Given the description of an element on the screen output the (x, y) to click on. 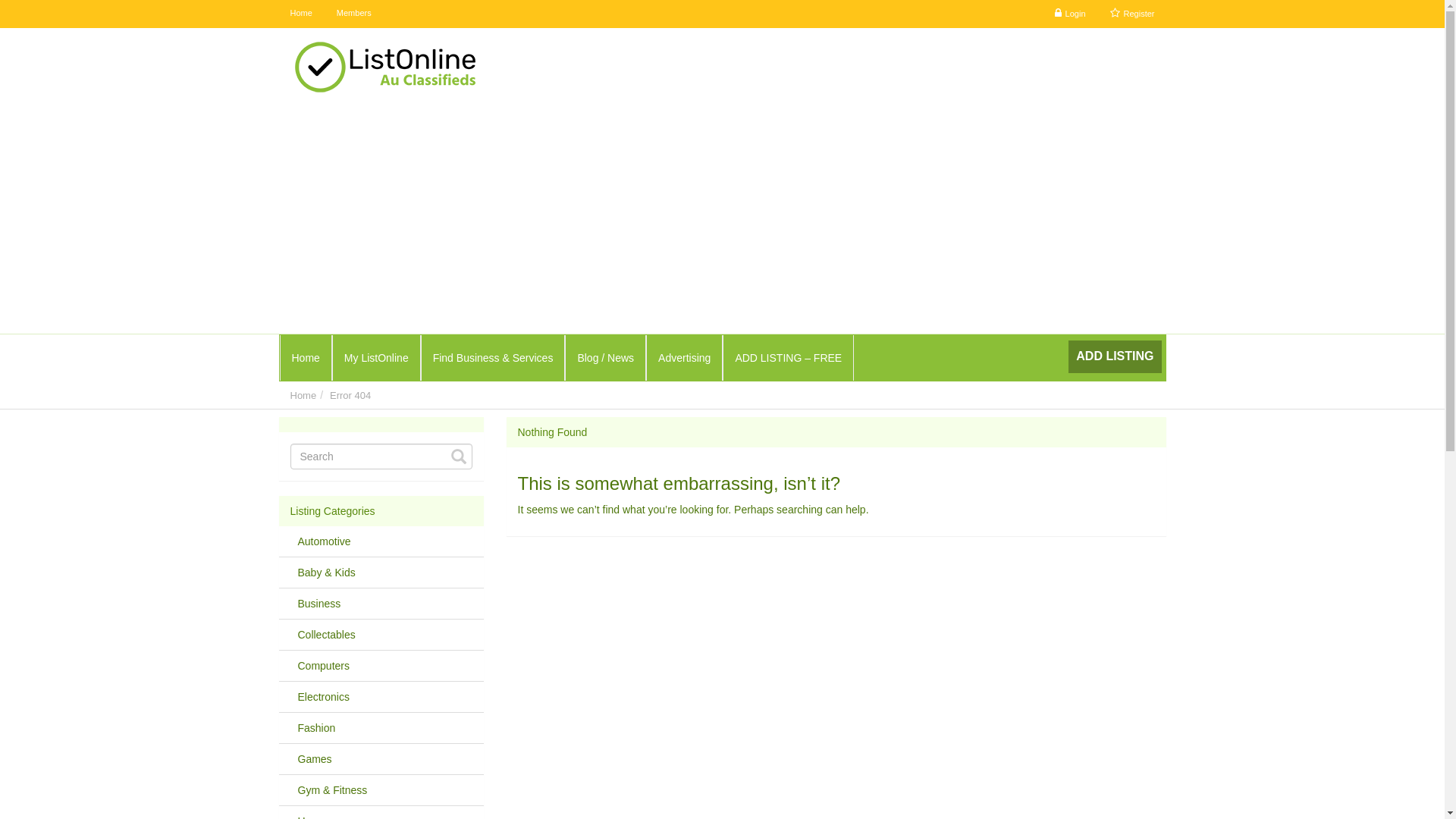
My ListOnline Element type: text (376, 357)
Automotive Element type: text (319, 541)
Home Element type: text (302, 395)
Advertising Element type: text (683, 357)
Business Element type: text (314, 603)
Electronics Element type: text (318, 696)
ADD LISTING Element type: text (1116, 356)
Members Element type: text (353, 13)
Home Element type: text (305, 357)
Home Element type: text (301, 13)
Find Business & Services Element type: text (492, 357)
ListOnline Business Classifieds - AU Element type: hover (463, 66)
Baby & Kids Element type: text (321, 572)
Advertisement Element type: hover (721, 219)
Computers Element type: text (318, 665)
Fashion Element type: text (312, 727)
Collectables Element type: text (321, 634)
Error 404 Element type: text (349, 395)
Gym & Fitness Element type: text (328, 789)
Blog / News Element type: text (605, 357)
Games Element type: text (310, 758)
Login Element type: text (1070, 14)
Register Element type: text (1132, 14)
